Given the description of an element on the screen output the (x, y) to click on. 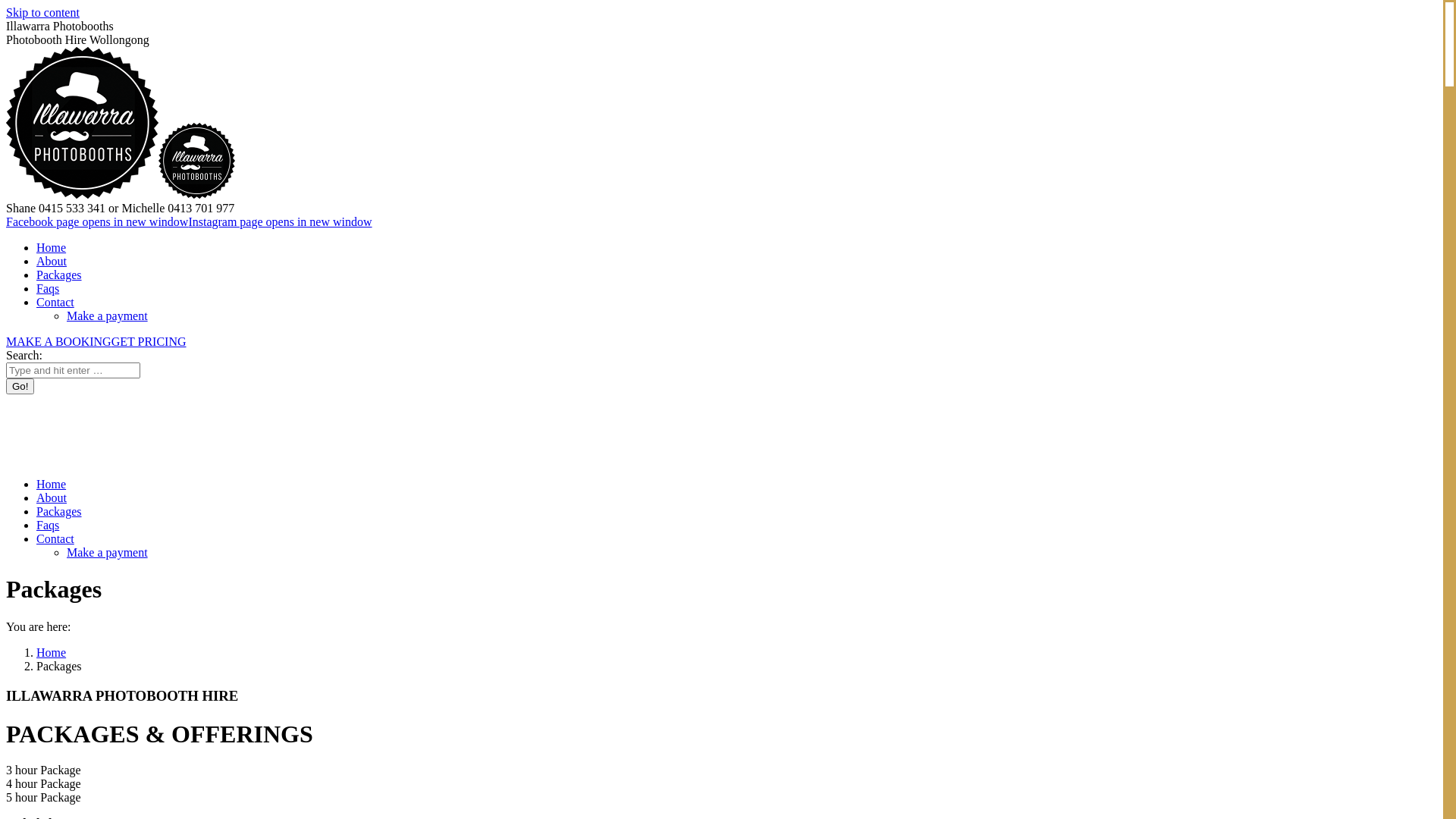
Home Element type: text (50, 247)
Faqs Element type: text (47, 524)
Skip to content Element type: text (42, 12)
Search form Element type: hover (73, 370)
Contact Element type: text (55, 538)
Home Element type: text (50, 483)
Packages Element type: text (58, 274)
Facebook page opens in new window Element type: text (97, 221)
Faqs Element type: text (47, 288)
Instagram page opens in new window Element type: text (279, 221)
Make a payment Element type: text (106, 552)
MAKE A BOOKING Element type: text (58, 341)
Home Element type: text (50, 652)
Go! Element type: text (20, 386)
Make a payment Element type: text (106, 315)
Packages Element type: text (58, 511)
About Element type: text (51, 497)
Contact Element type: text (55, 301)
GET PRICING Element type: text (148, 341)
About Element type: text (51, 260)
